Given the description of an element on the screen output the (x, y) to click on. 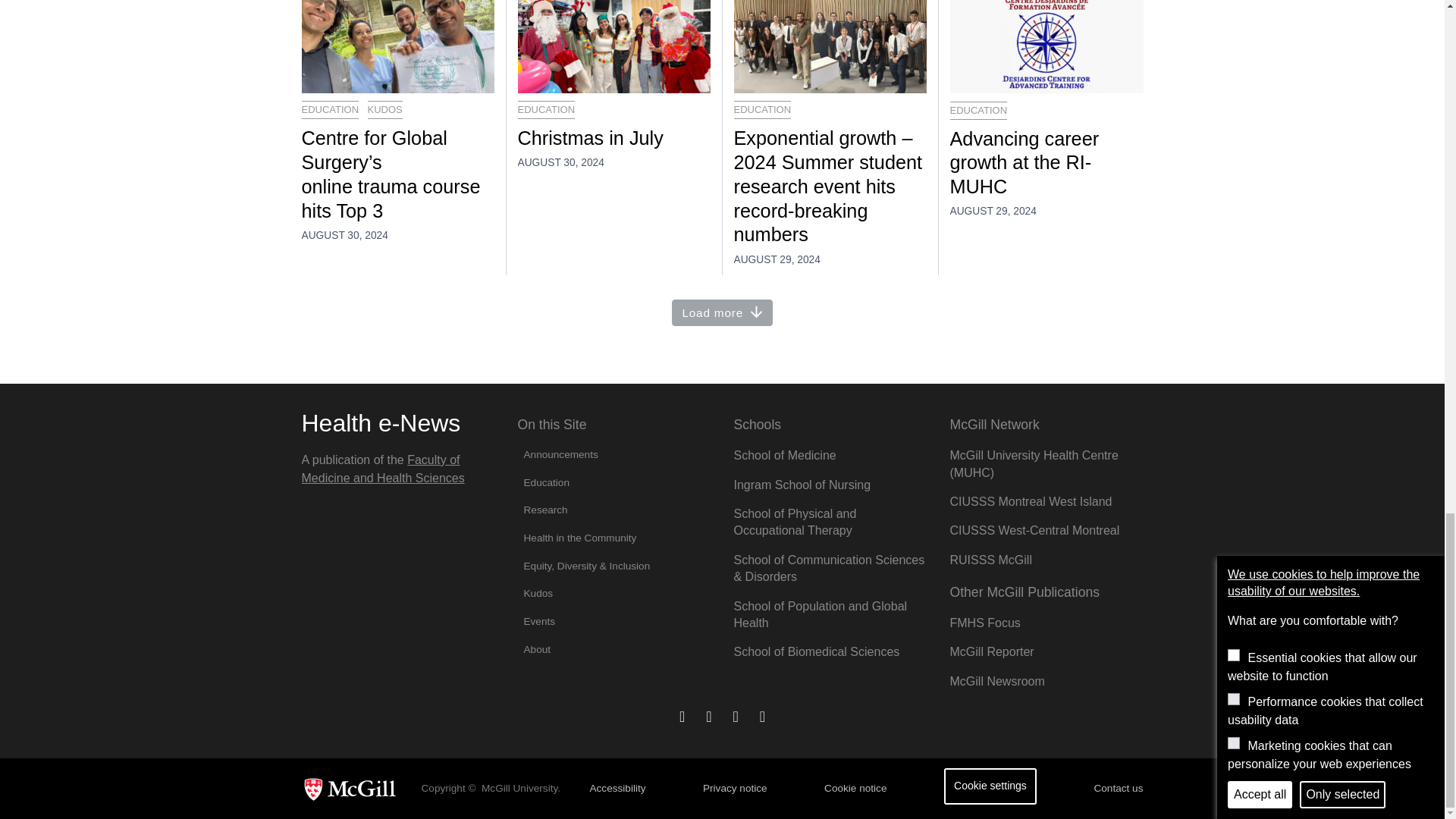
Advancing career growth at the RI-MUHC (1045, 163)
Faculty of Medicine and Health Sciences (382, 468)
EDUCATION (978, 110)
Announcements (613, 454)
KUDOS (385, 109)
Christmas in July (613, 138)
Load more (722, 312)
Home (381, 422)
EDUCATION (762, 109)
EDUCATION (330, 109)
